Given the description of an element on the screen output the (x, y) to click on. 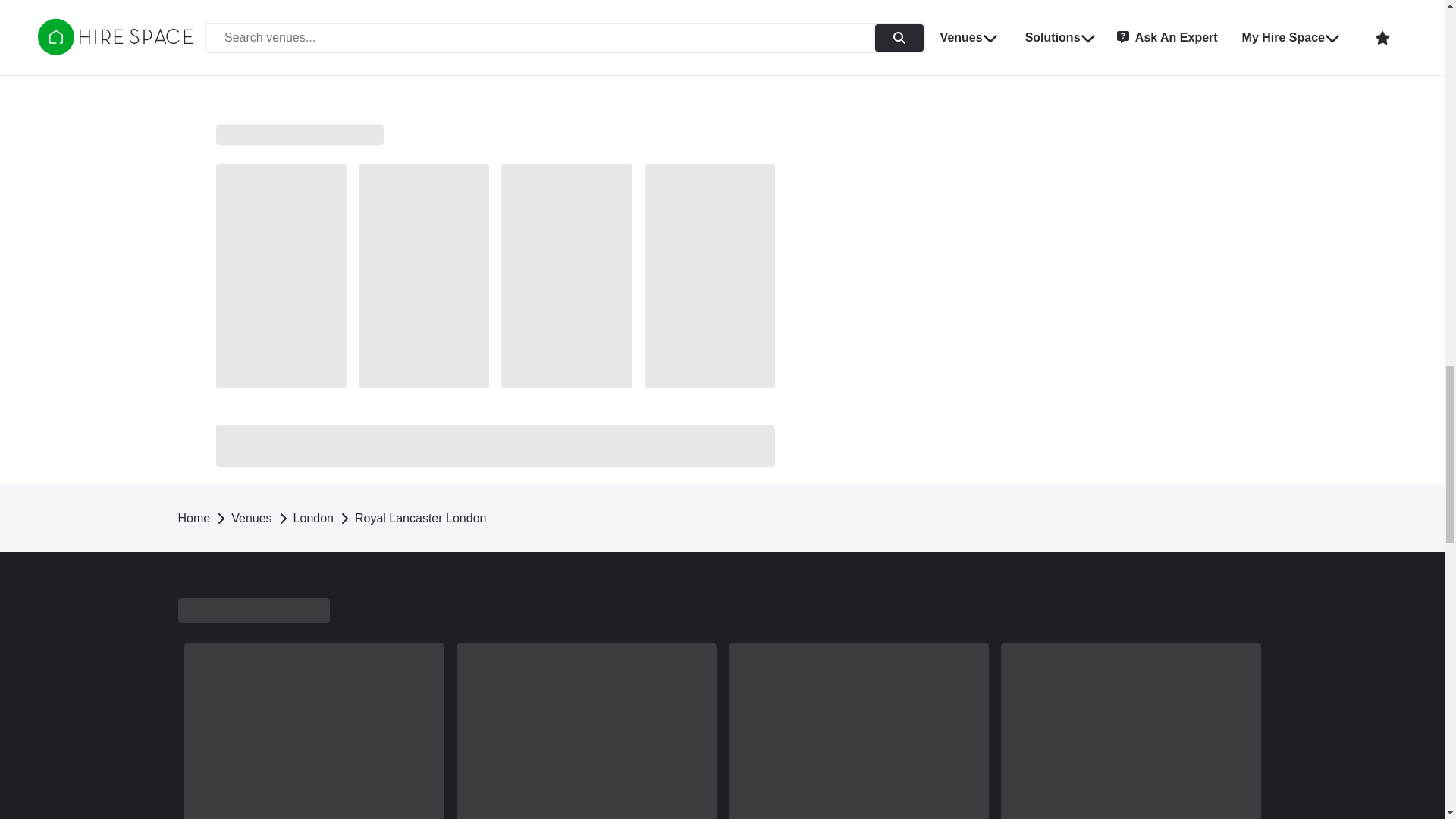
Venues (250, 517)
London (313, 517)
Home (193, 517)
